Given the description of an element on the screen output the (x, y) to click on. 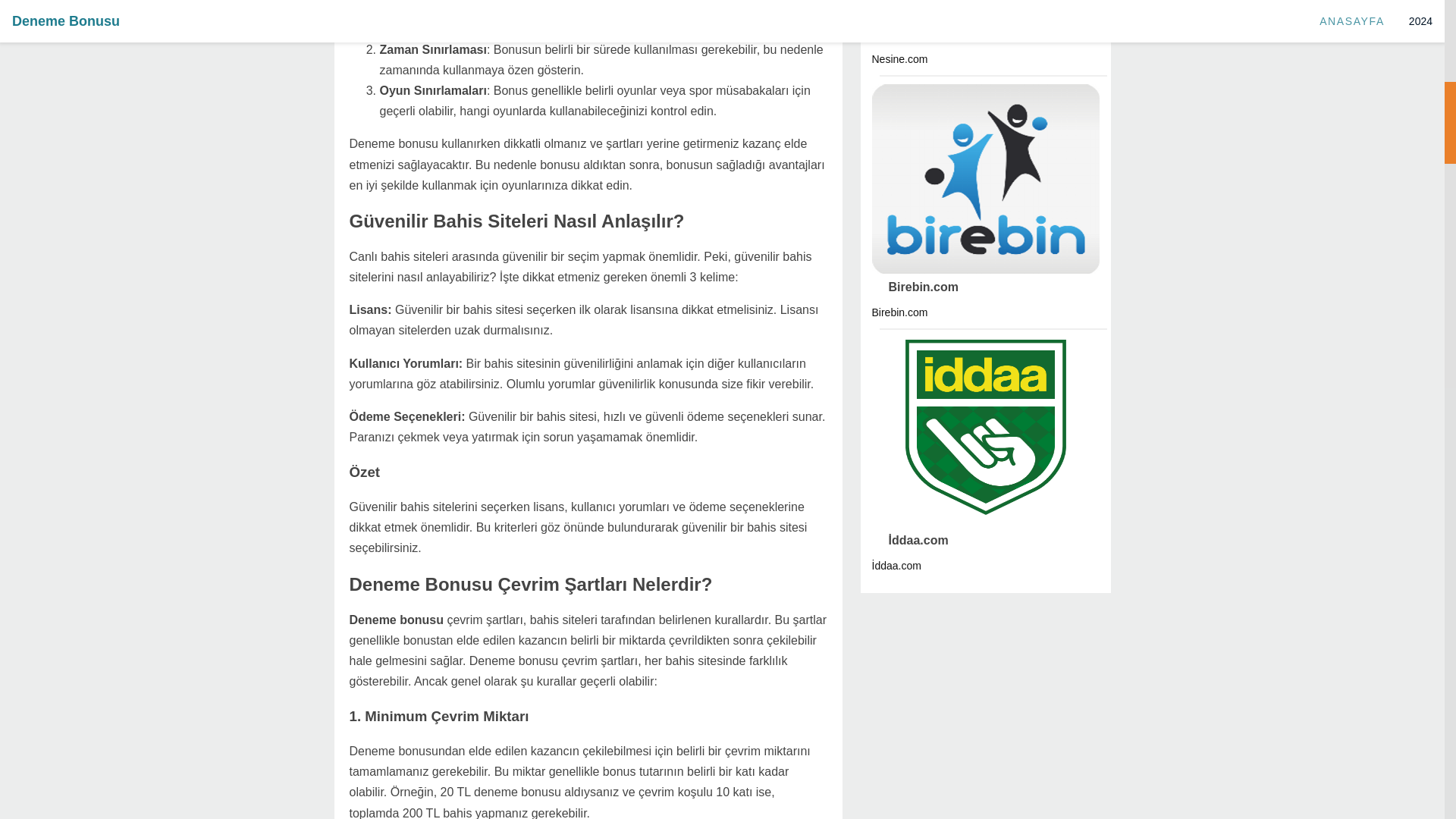
Birebin.com (915, 286)
Birebin.com (915, 286)
nesine.com (914, 33)
Nesine.com (914, 33)
